Given the description of an element on the screen output the (x, y) to click on. 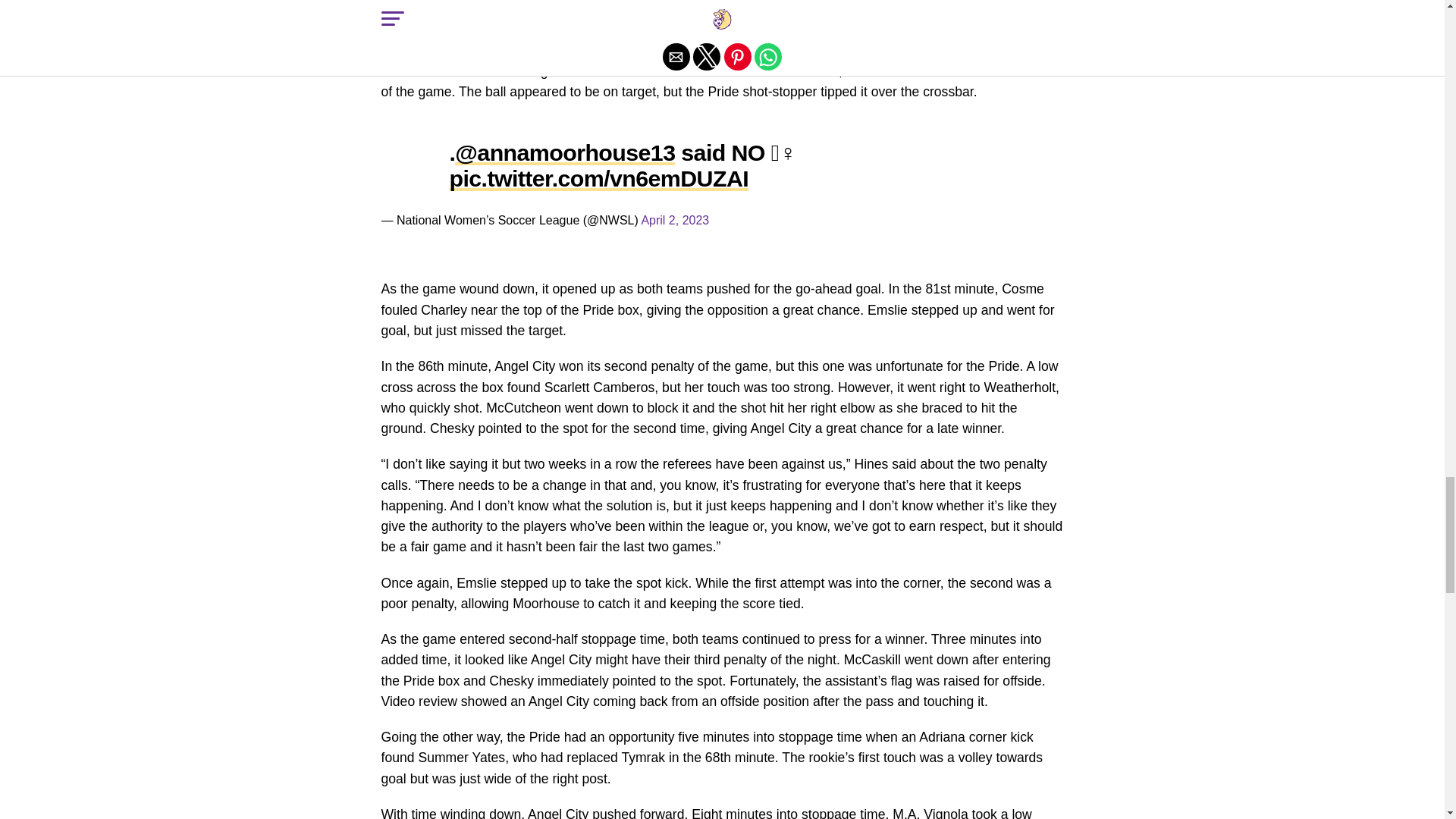
April 2, 2023 (674, 219)
